Given the description of an element on the screen output the (x, y) to click on. 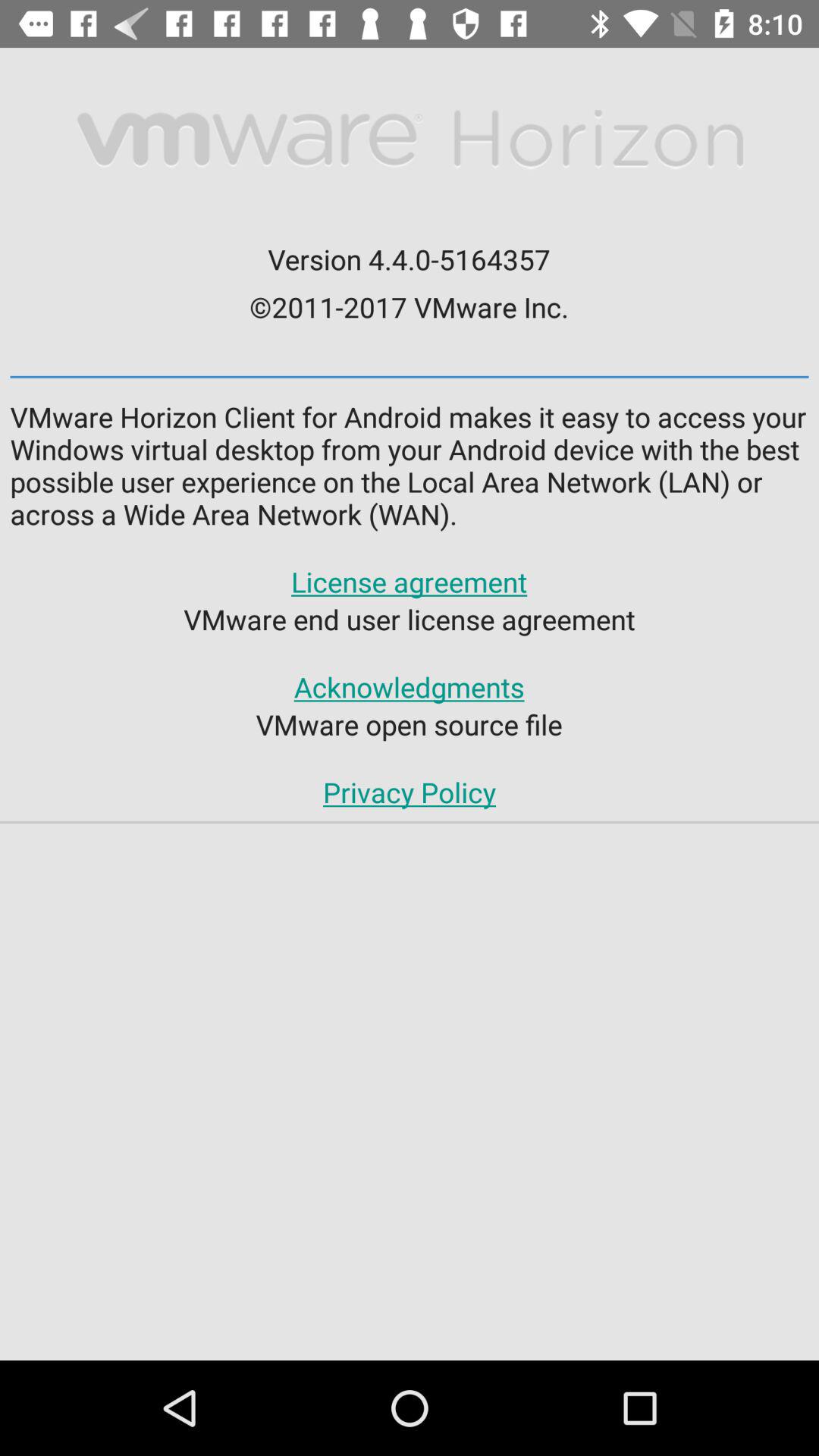
swipe until version 4 4 item (408, 259)
